Given the description of an element on the screen output the (x, y) to click on. 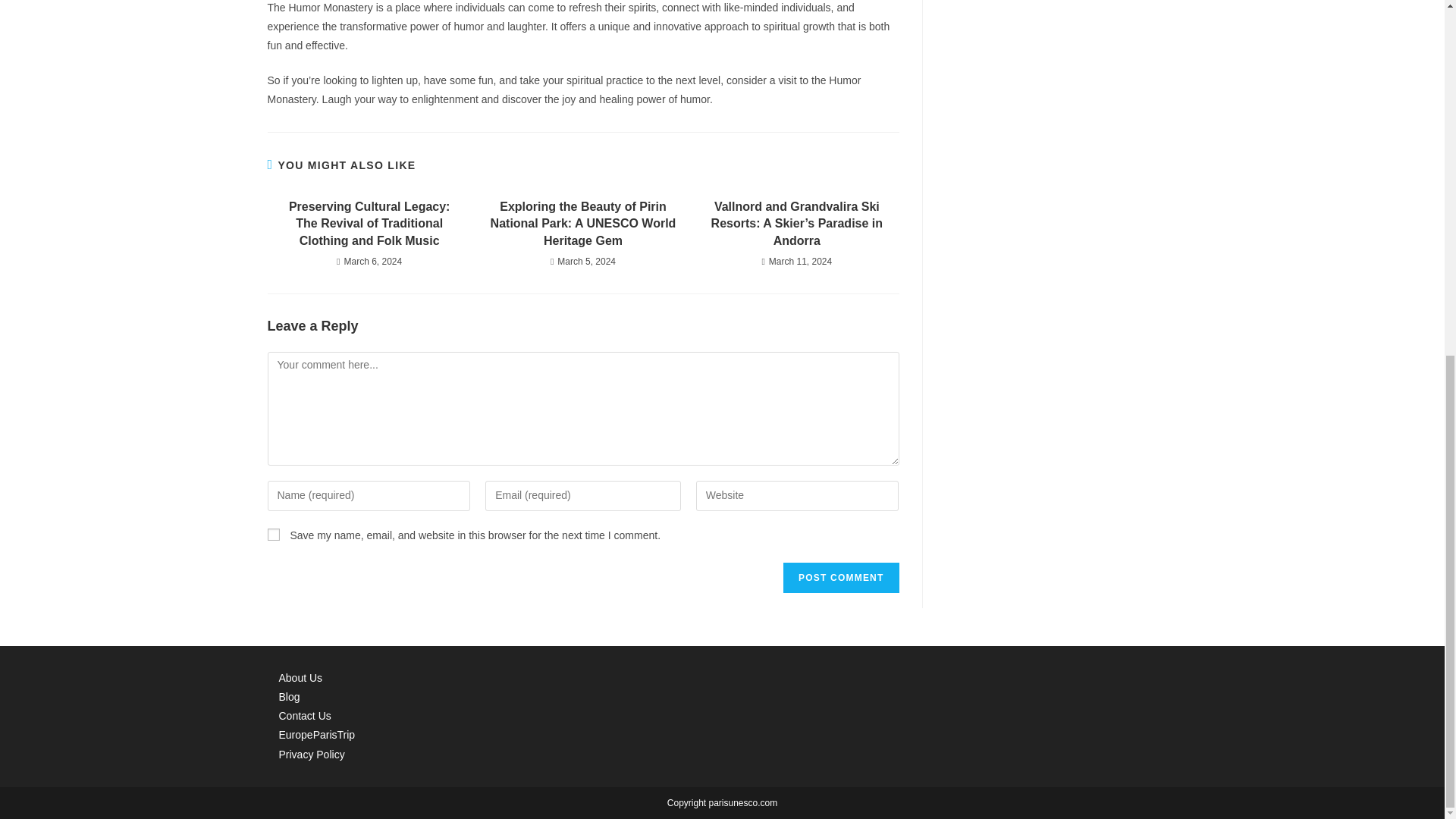
yes (272, 534)
EuropeParisTrip (317, 734)
About Us (301, 677)
Post Comment (840, 577)
Privacy Policy (312, 754)
Post Comment (840, 577)
Contact Us (305, 715)
Blog (289, 696)
